Given the description of an element on the screen output the (x, y) to click on. 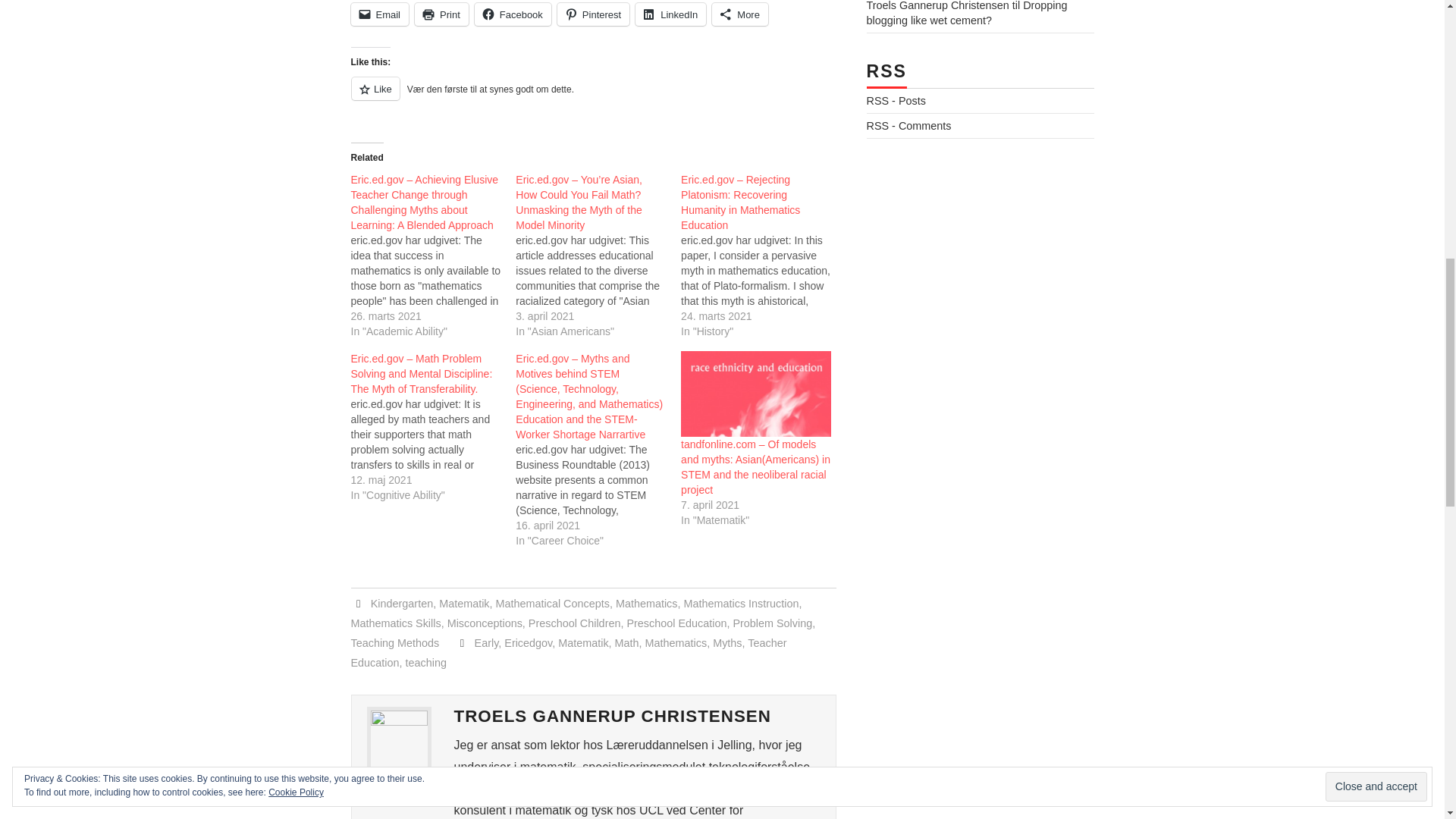
Click to share on LinkedIn (670, 14)
Click to email a link to a friend (379, 14)
Click to share on Pinterest (592, 14)
Click to share on Facebook (512, 14)
Print (441, 14)
Click to print (441, 14)
More (739, 14)
Pinterest (592, 14)
Facebook (512, 14)
Email (379, 14)
LinkedIn (670, 14)
